Given the description of an element on the screen output the (x, y) to click on. 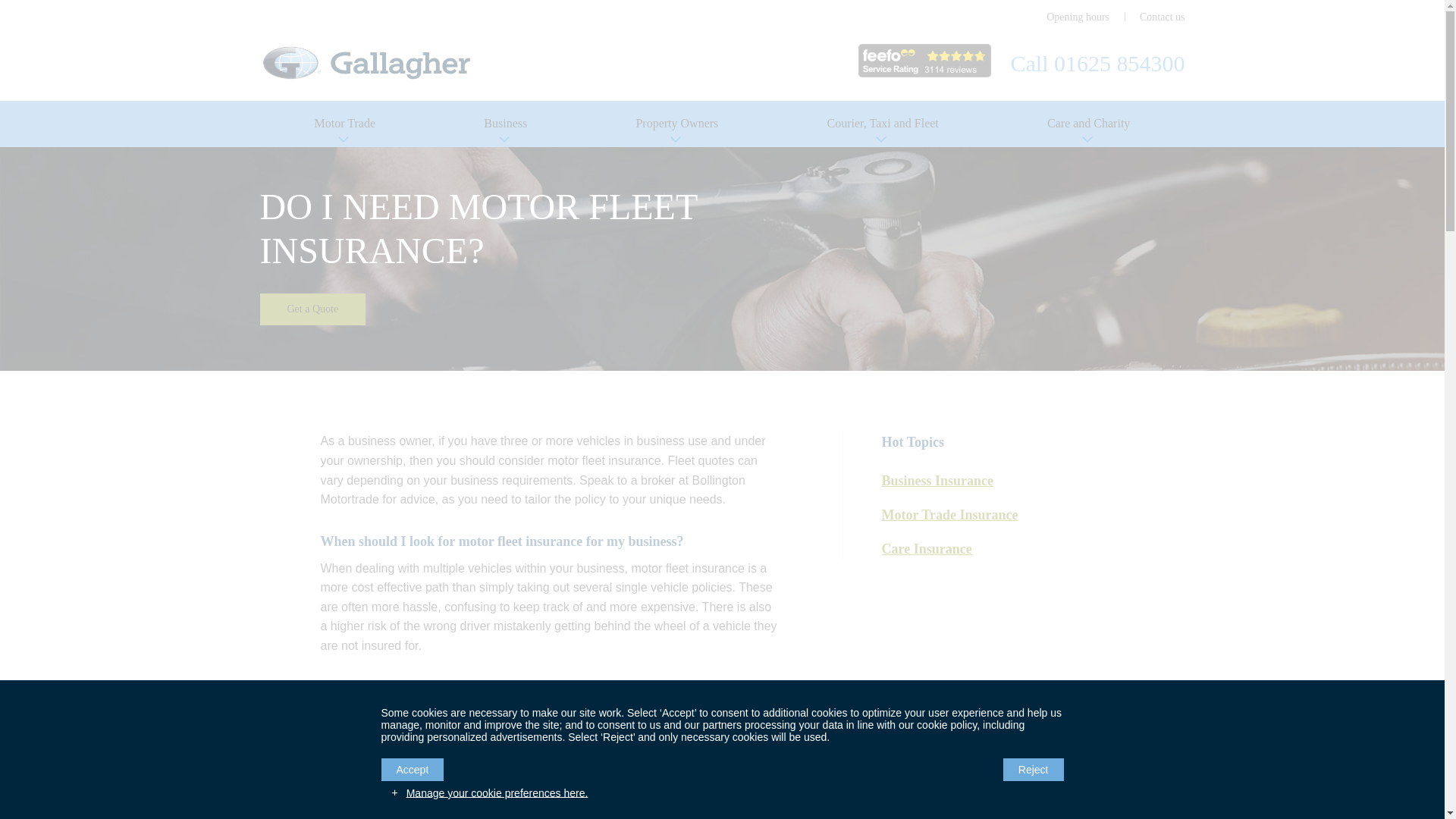
Motor Trade (344, 123)
Opening hours (1077, 16)
Contact us (1162, 16)
Bollington Insurance (365, 62)
Call 01625 854300 (1097, 63)
Business (504, 123)
